Given the description of an element on the screen output the (x, y) to click on. 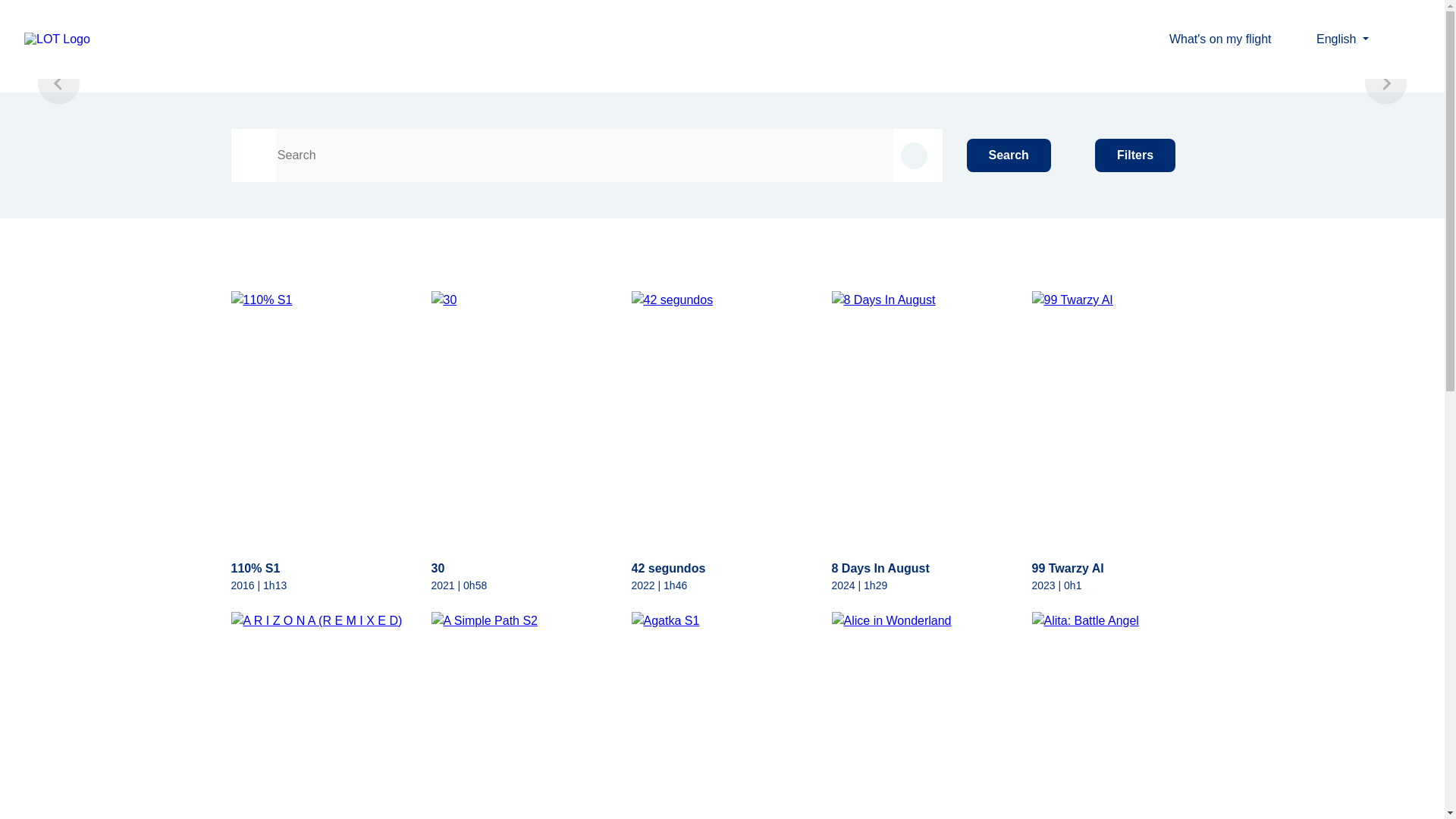
English (1342, 38)
What's on my flight (1233, 38)
Search (1008, 154)
